Given the description of an element on the screen output the (x, y) to click on. 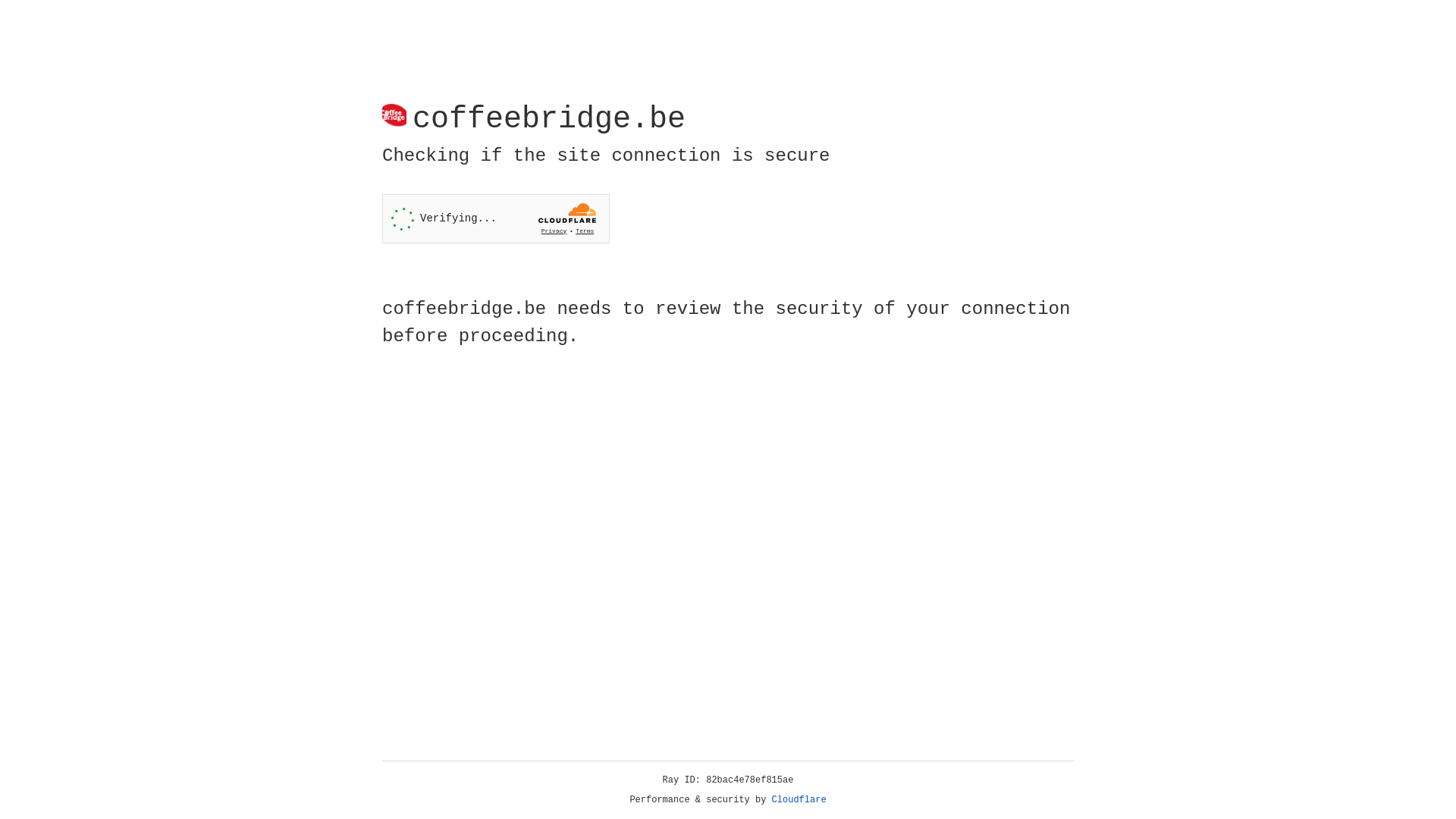
Cloudflare Element type: text (798, 799)
Widget containing a Cloudflare security challenge Element type: hover (495, 218)
